Given the description of an element on the screen output the (x, y) to click on. 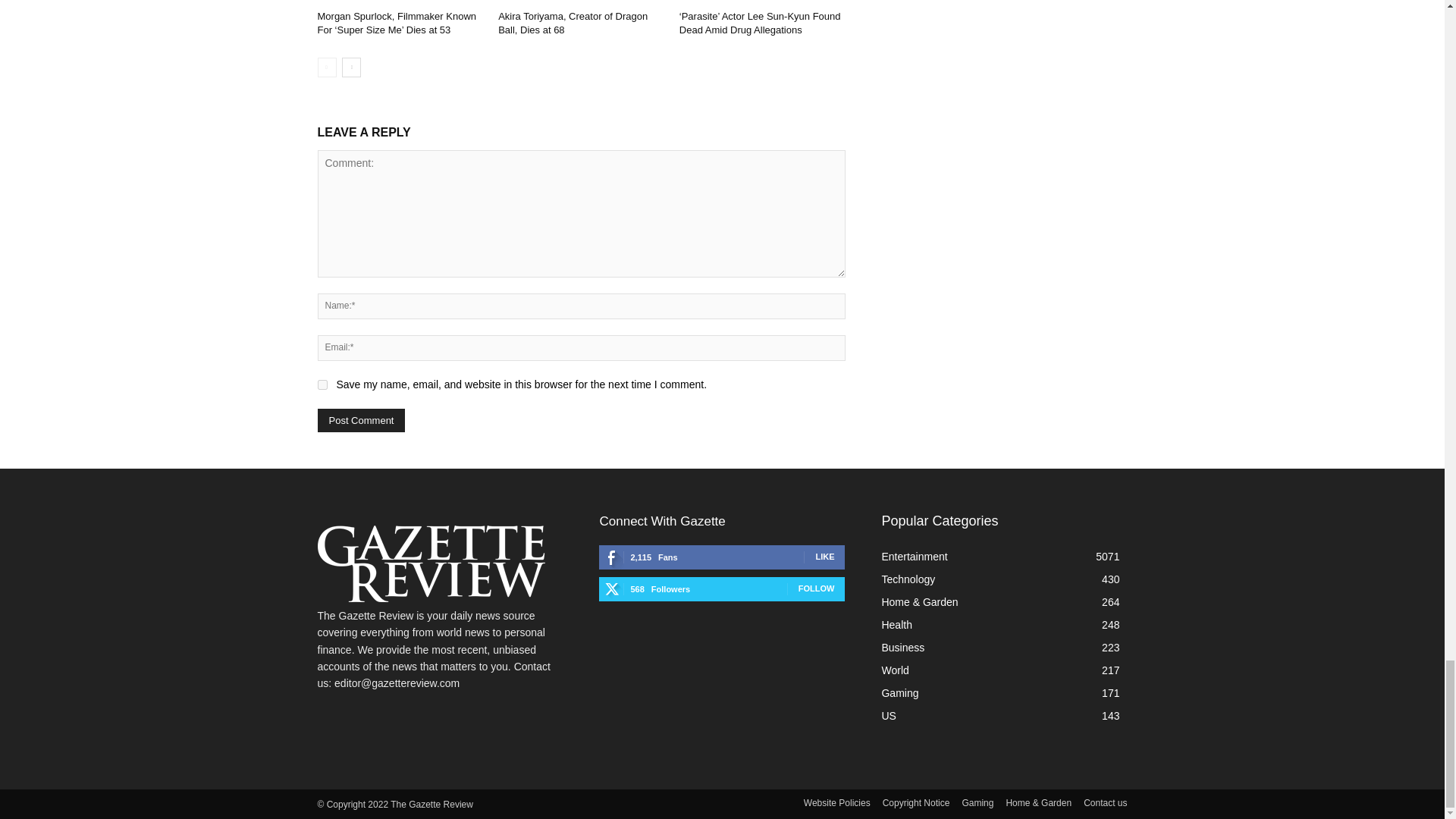
yes (321, 384)
Post Comment (360, 420)
